Given the description of an element on the screen output the (x, y) to click on. 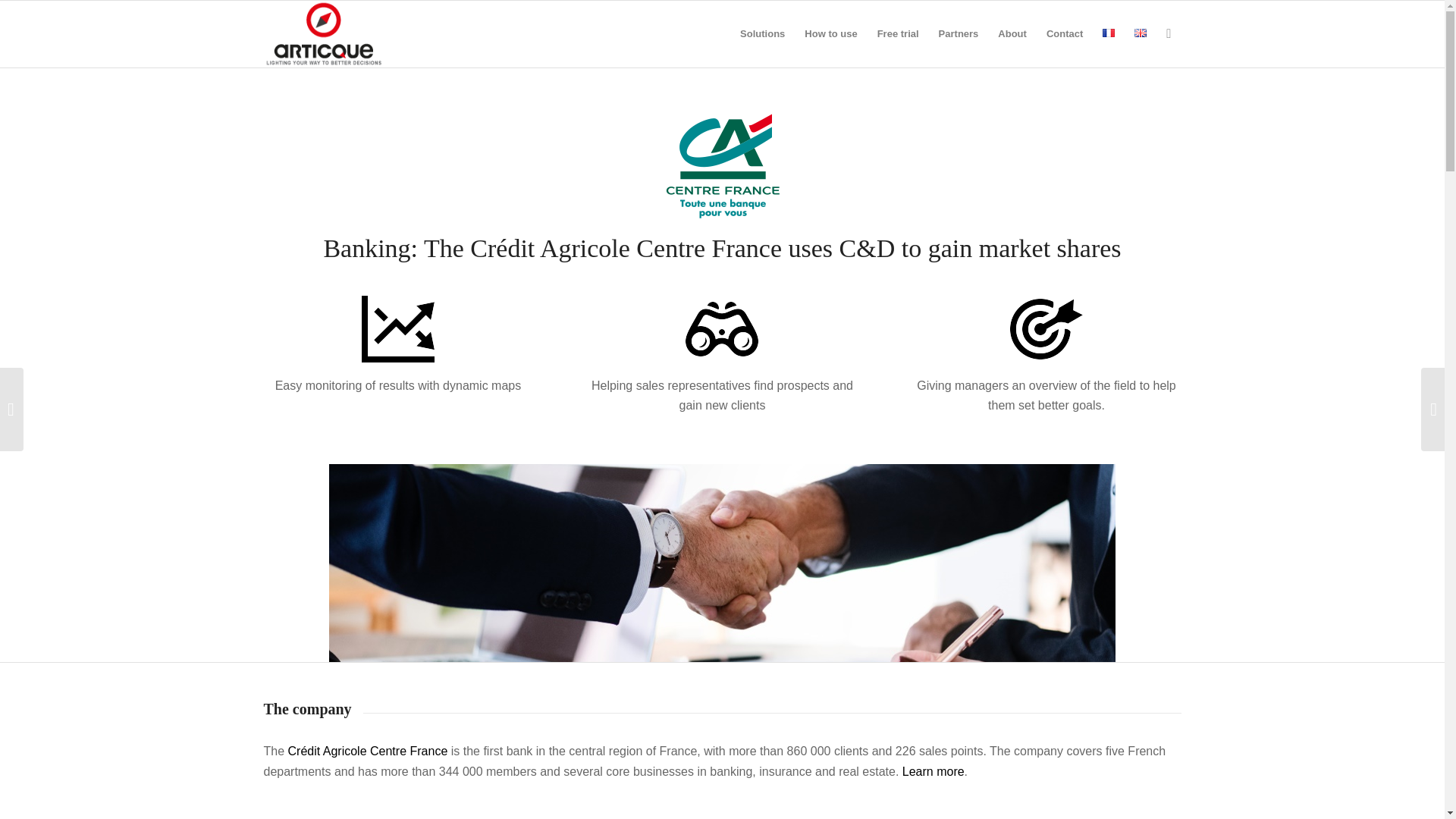
iconmonstr-binoculars-8-96 (721, 328)
iconmonstr-target-4-96 (1046, 328)
How to use (830, 33)
Free trial (897, 33)
iconmonstr-chart-18-96 (397, 328)
Learn more (932, 771)
logo-CA-CF (722, 165)
Partners (958, 33)
logo-articque-en (323, 33)
Solutions (762, 33)
